Given the description of an element on the screen output the (x, y) to click on. 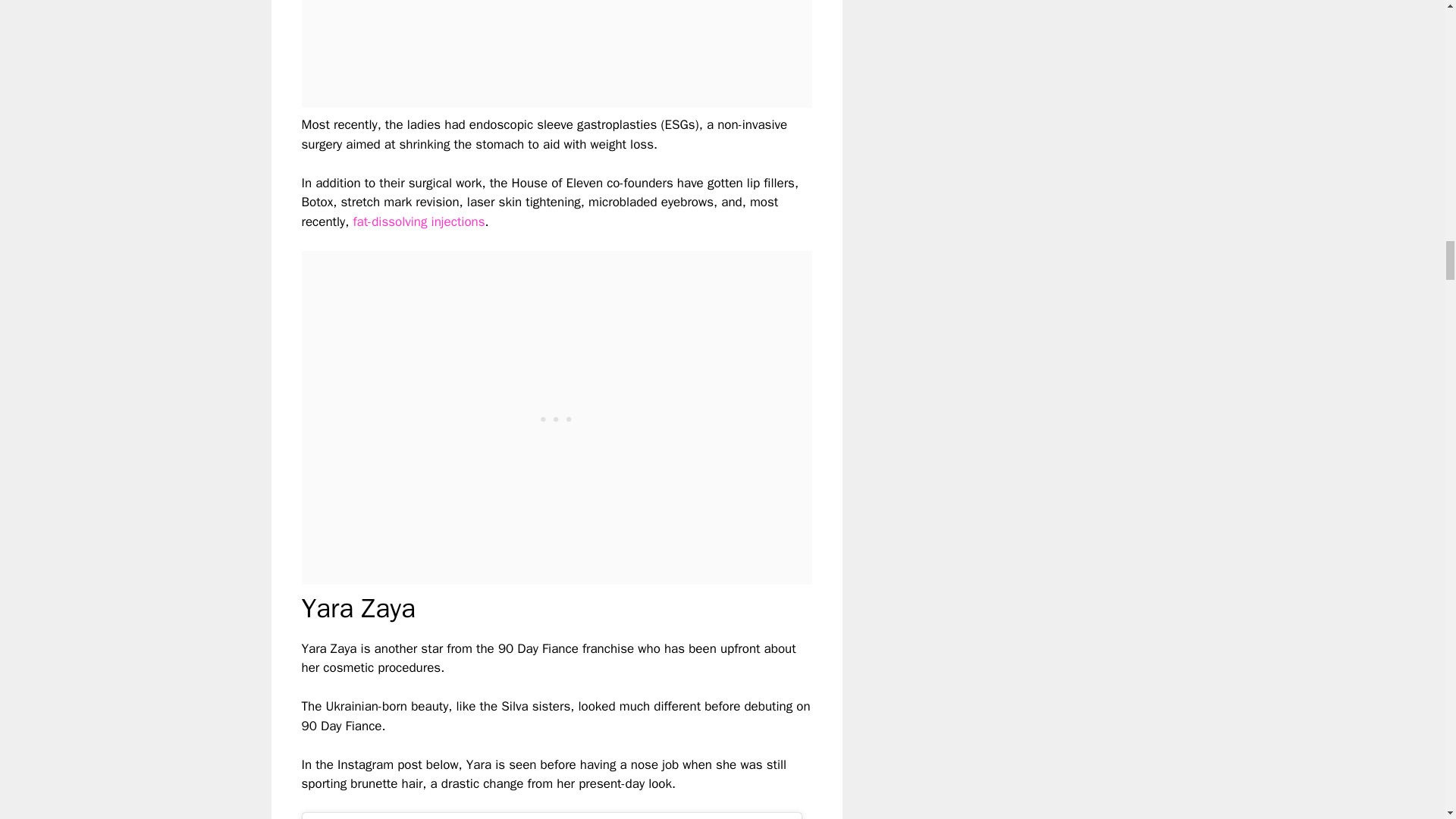
fat-dissolving injections (418, 221)
